Given the description of an element on the screen output the (x, y) to click on. 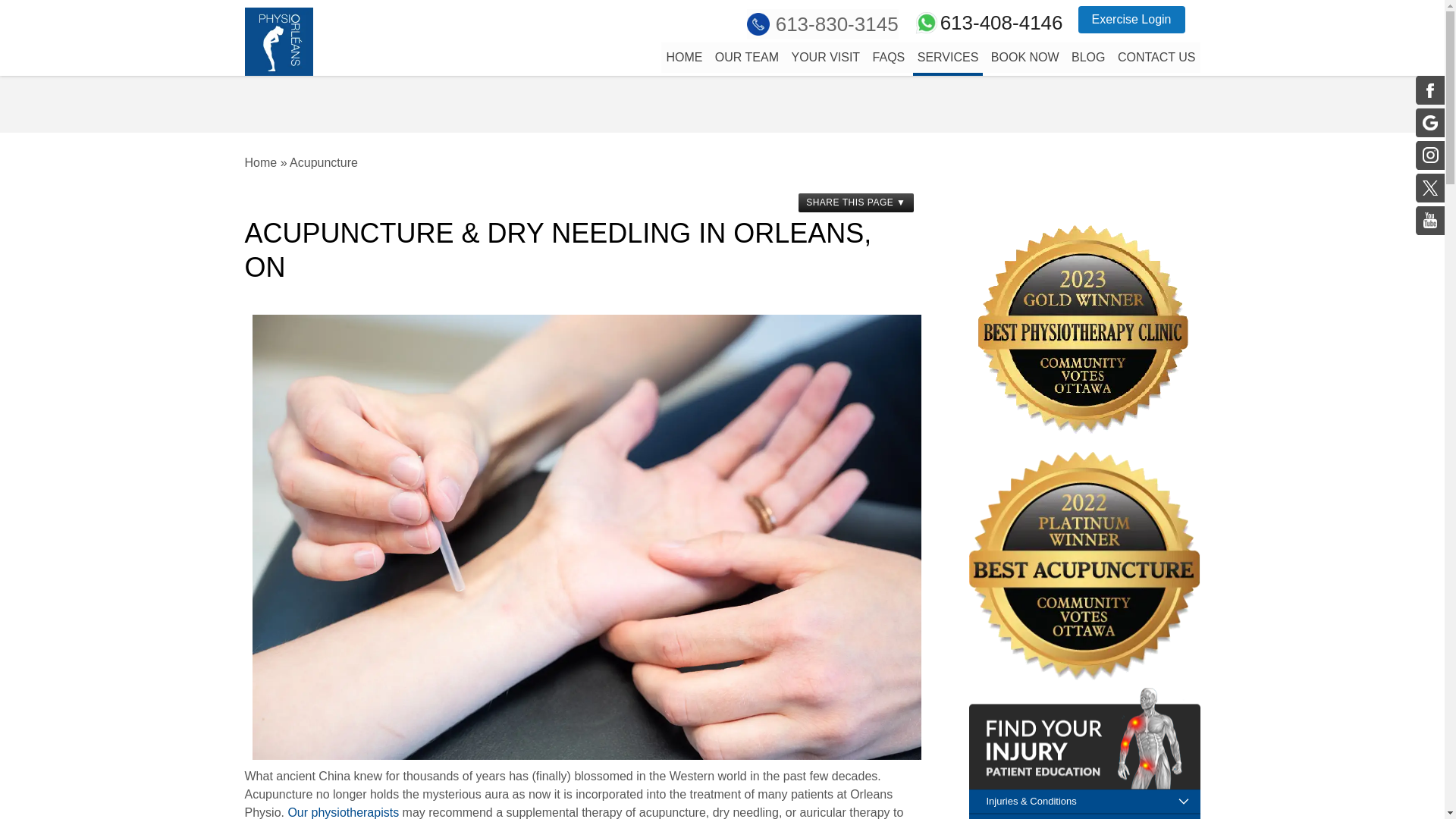
OUR TEAM (746, 57)
613-408-4146 (988, 22)
FAQS (888, 57)
HOME (683, 57)
CONTACT US (1156, 57)
BOOK NOW (1025, 57)
Exercise Login (1131, 19)
BLOG (1088, 57)
YOUR VISIT (825, 57)
SERVICES (948, 59)
Our physiotherapists (342, 812)
613-830-3145 (822, 24)
